Given the description of an element on the screen output the (x, y) to click on. 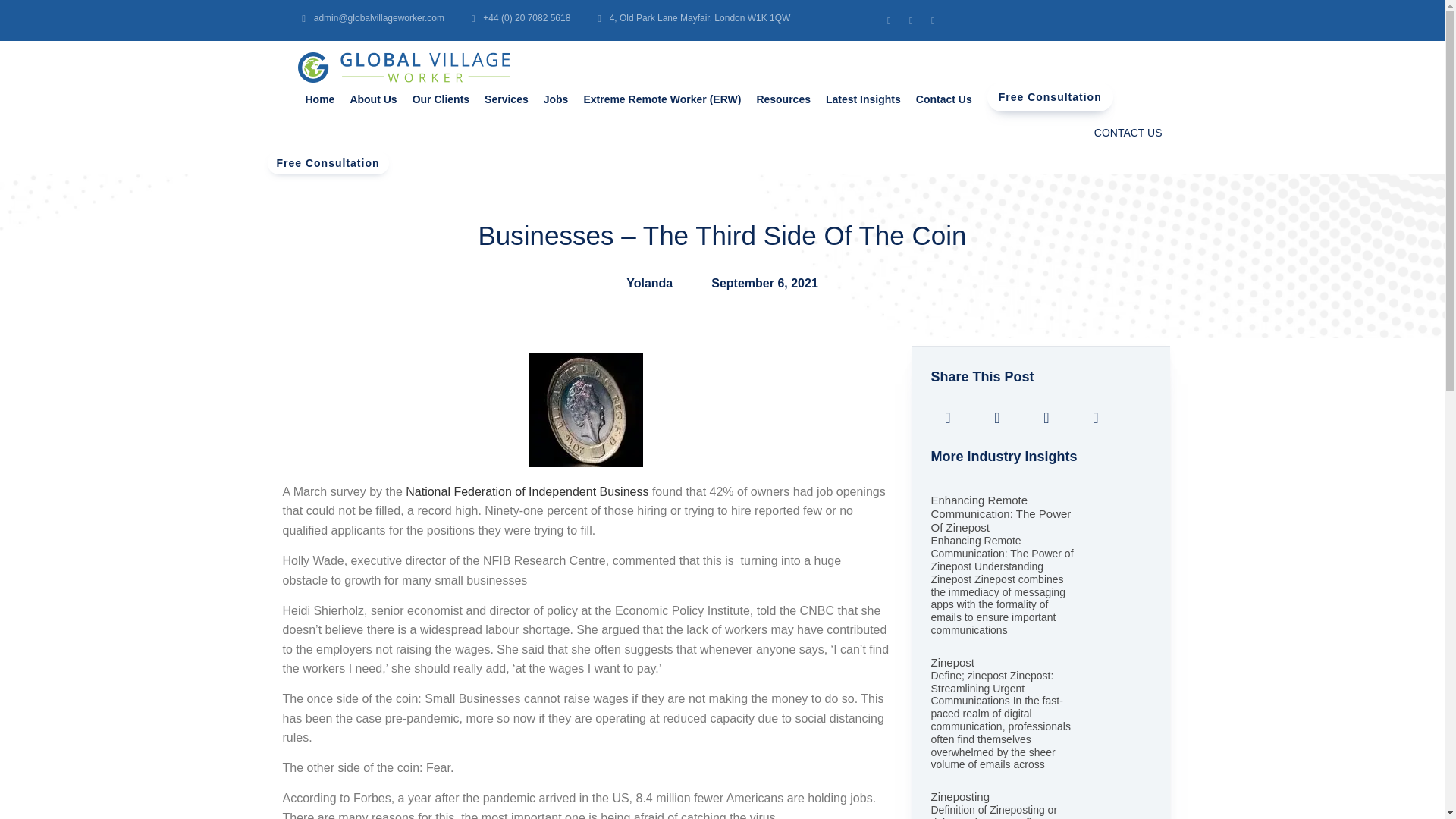
Contact Us (943, 99)
Home (319, 99)
About Us (373, 99)
Jobs (555, 99)
Resources (783, 99)
4, Old Park Lane Mayfair, London W1K 1QW (691, 18)
Our Clients (440, 99)
Latest Insights (863, 99)
Services (506, 99)
